Given the description of an element on the screen output the (x, y) to click on. 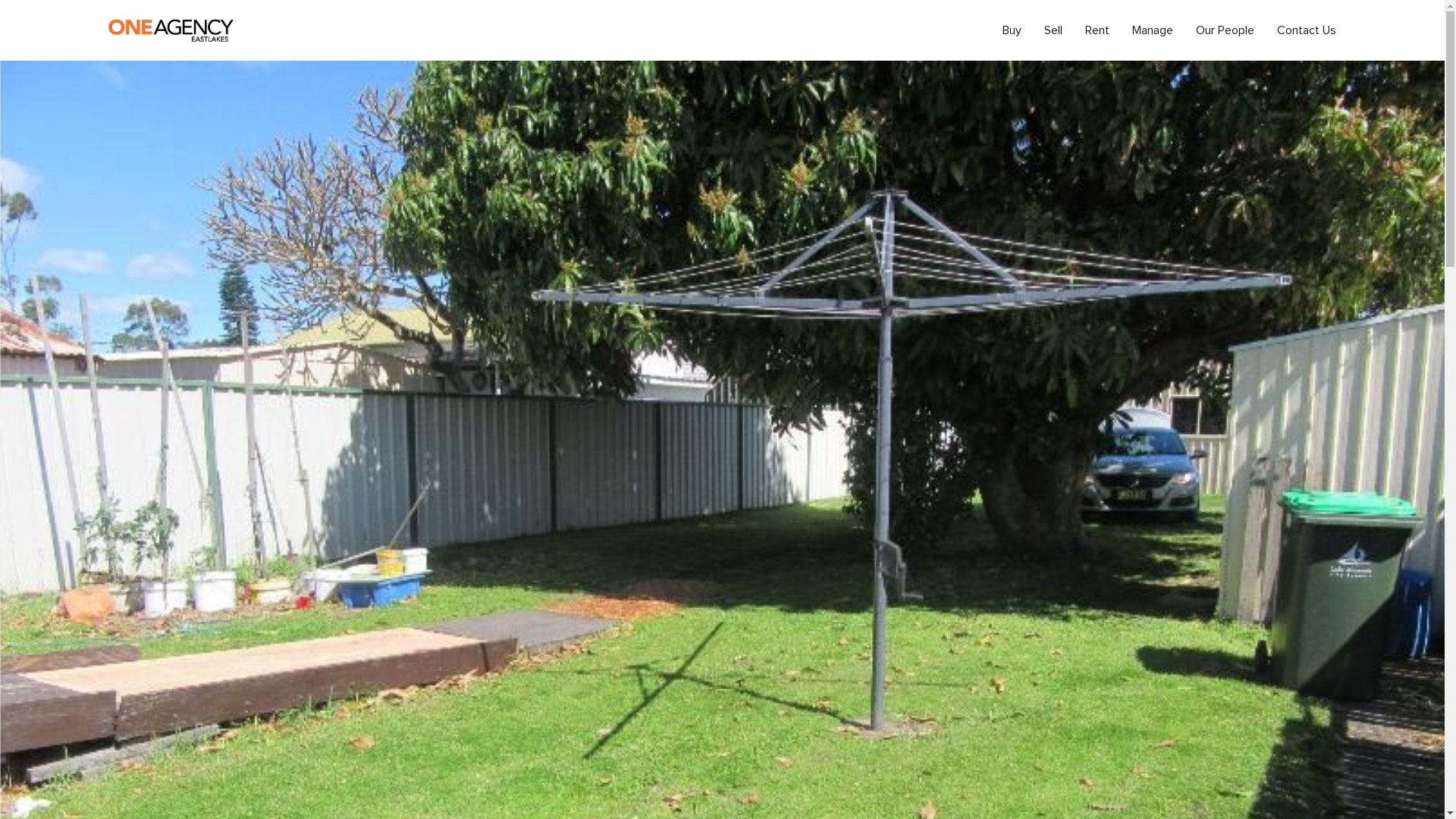
Sell Element type: text (1052, 30)
Buy Element type: text (1011, 30)
Contact Us Element type: text (1300, 30)
Manage Element type: text (1152, 30)
Our People Element type: text (1224, 30)
Rent Element type: text (1096, 30)
One Agency Eastlakes -  Element type: hover (170, 30)
